Given the description of an element on the screen output the (x, y) to click on. 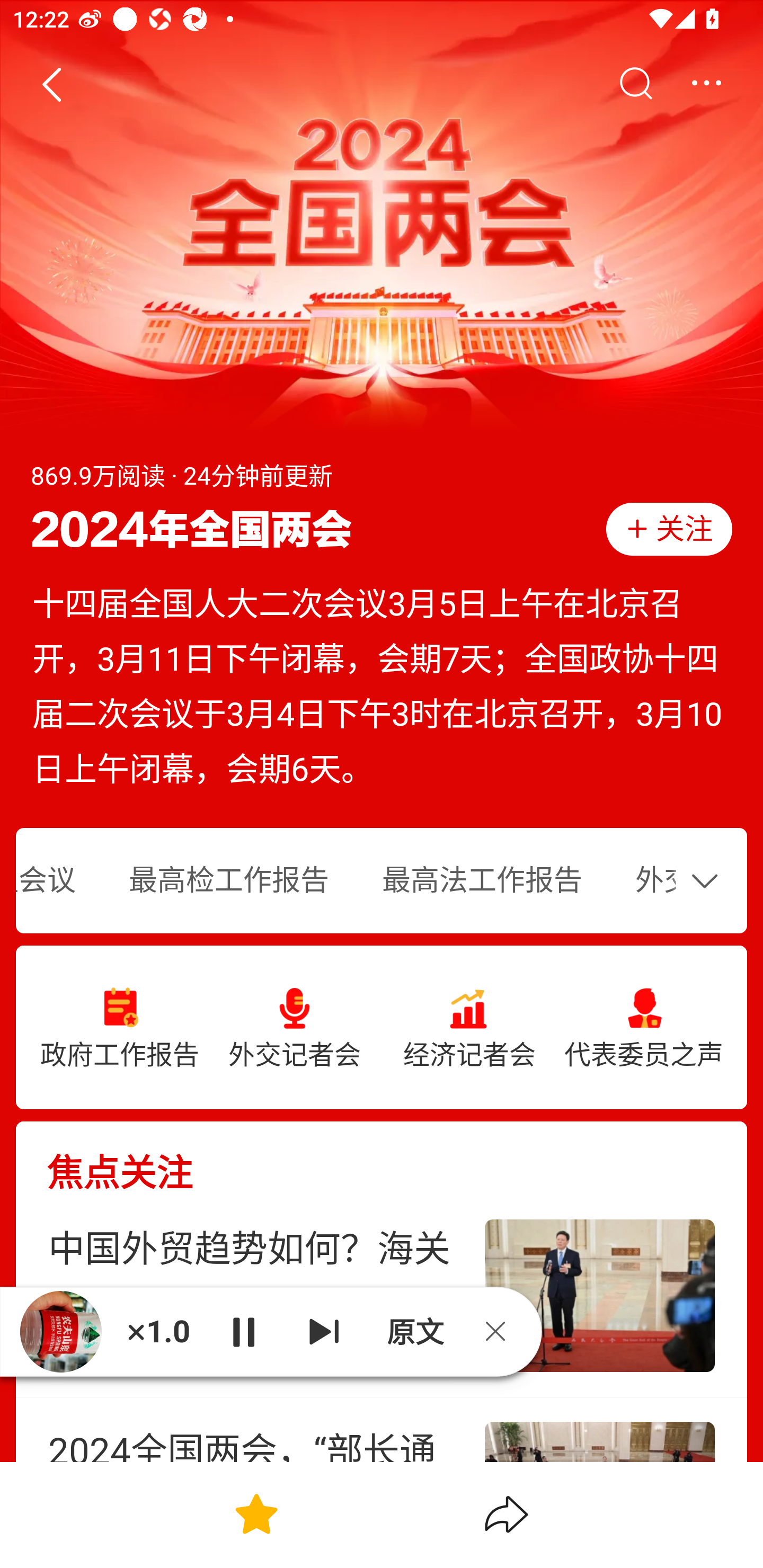
 (50, 83)
 (634, 83)
 (705, 83)
 关注 (668, 529)
各省开放团组会议 (59, 880)
最高检工作报告 (228, 880)
最高法工作报告 (481, 880)
 (708, 880)
政府工作报告 (119, 1027)
外交记者会 (294, 1027)
经济记者会 (469, 1027)
代表委员之声 (643, 1027)
焦点关注 (381, 1157)
中国外贸趋势如何？海关总署署长回应 上观新闻 27评 25分钟前 (381, 1295)
 播放 (242, 1330)
 下一个 (323, 1330)
 关闭 (501, 1330)
播放器 (60, 1331)
原文 (413, 1331)
 1.0 (157, 1330)
收藏  (255, 1514)
分享  (506, 1514)
